Given the description of an element on the screen output the (x, y) to click on. 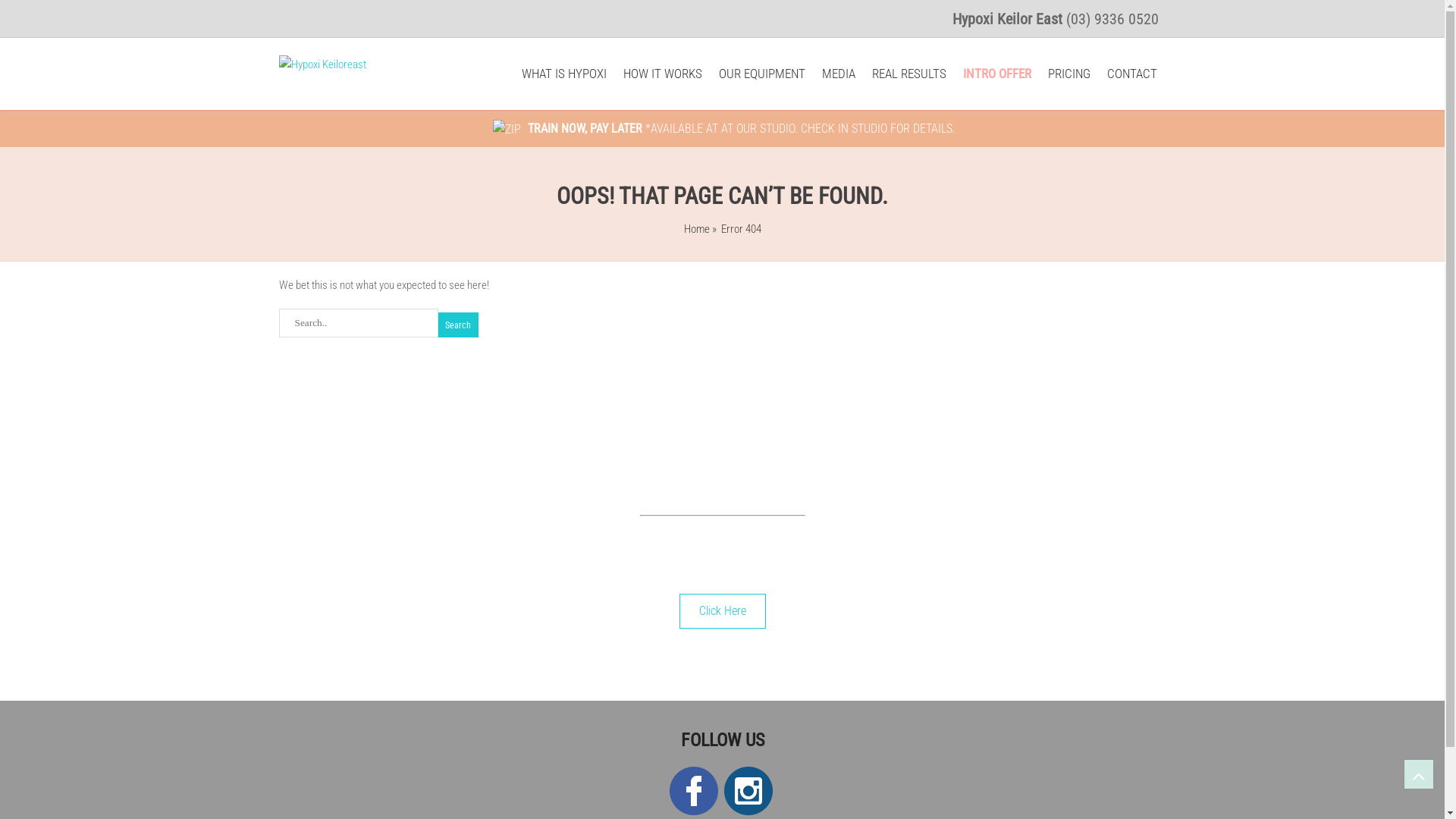
INTRO OFFER Element type: text (996, 73)
OUR EQUIPMENT Element type: text (761, 73)
CONTACT Element type: text (1131, 73)
Hypoxi Keiloreast Element type: hover (322, 64)
REAL RESULTS Element type: text (908, 73)
HOW IT WORKS Element type: text (662, 73)
WHAT IS HYPOXI Element type: text (564, 73)
PRICING Element type: text (1068, 73)
Back To Top Element type: hover (1418, 773)
Click Here Element type: text (722, 610)
Search Element type: text (458, 324)
Home Element type: text (696, 228)
MEDIA Element type: text (838, 73)
